Given the description of an element on the screen output the (x, y) to click on. 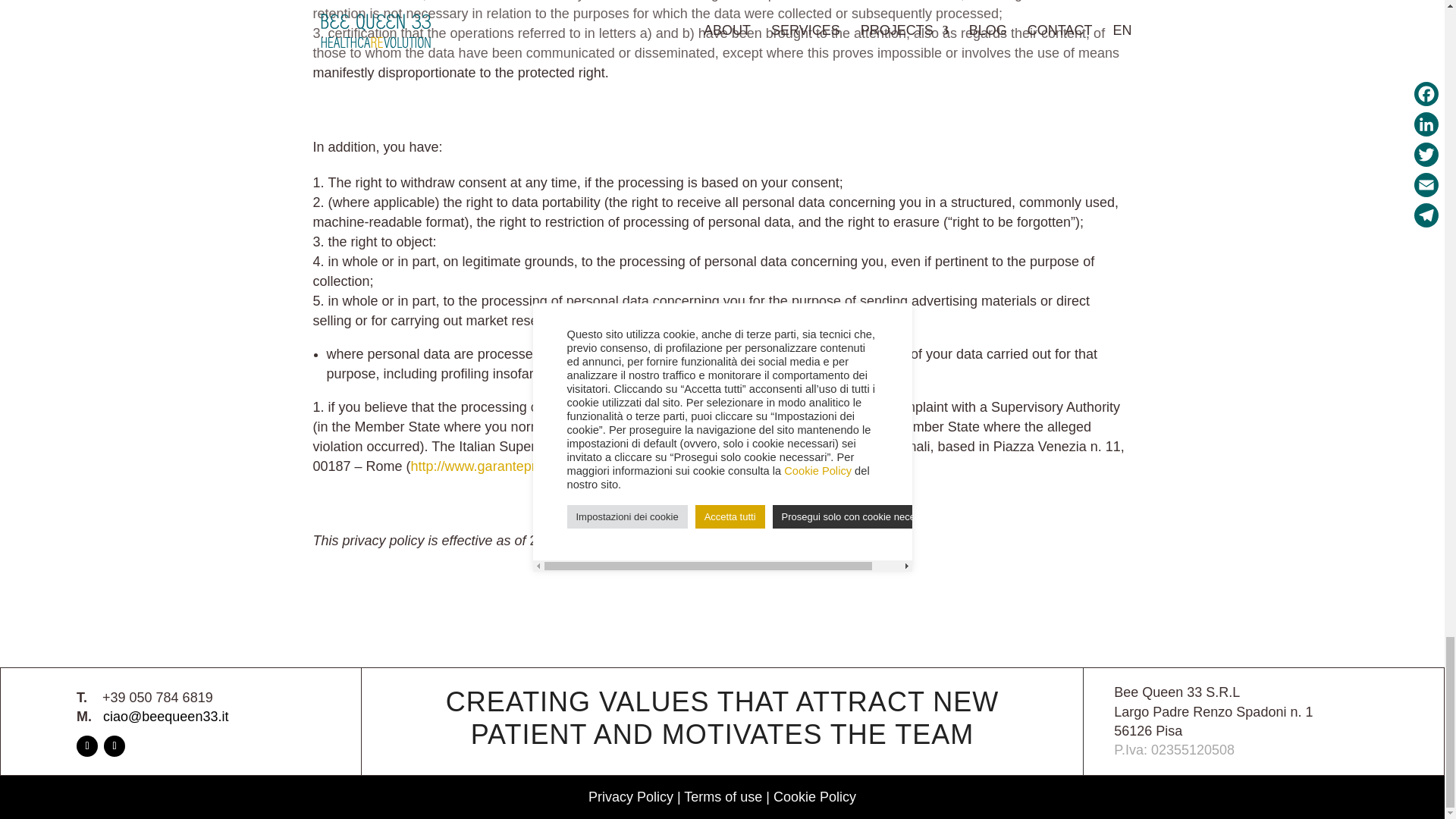
Privacy Policy (630, 796)
Cookie Policy (814, 796)
Follow on Facebook (87, 745)
Follow on Instagram (114, 745)
Terms of use (722, 796)
